Given the description of an element on the screen output the (x, y) to click on. 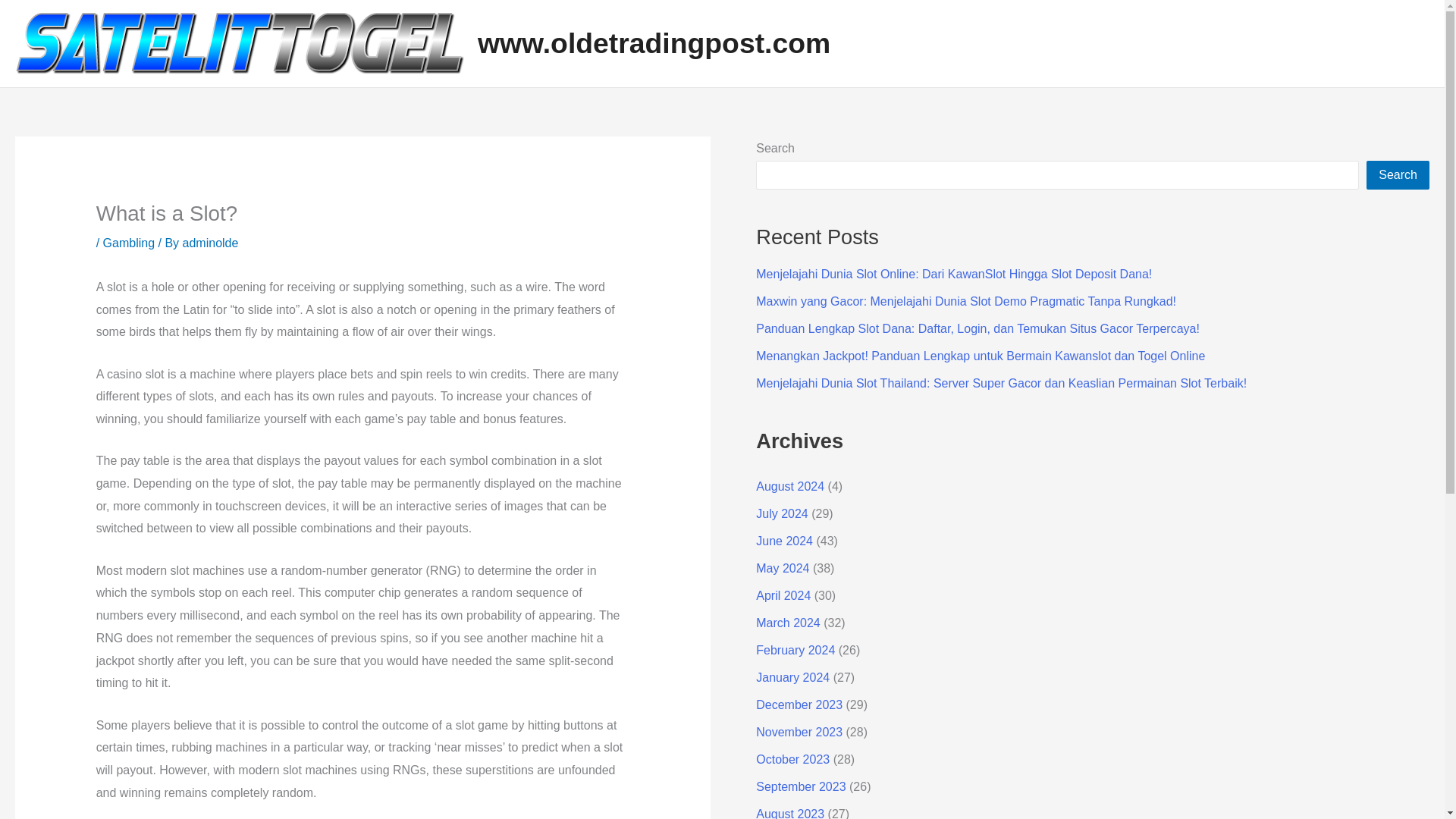
August 2023 (789, 813)
September 2023 (800, 786)
October 2023 (792, 758)
April 2024 (782, 594)
May 2024 (782, 567)
View all posts by adminolde (210, 242)
